Given the description of an element on the screen output the (x, y) to click on. 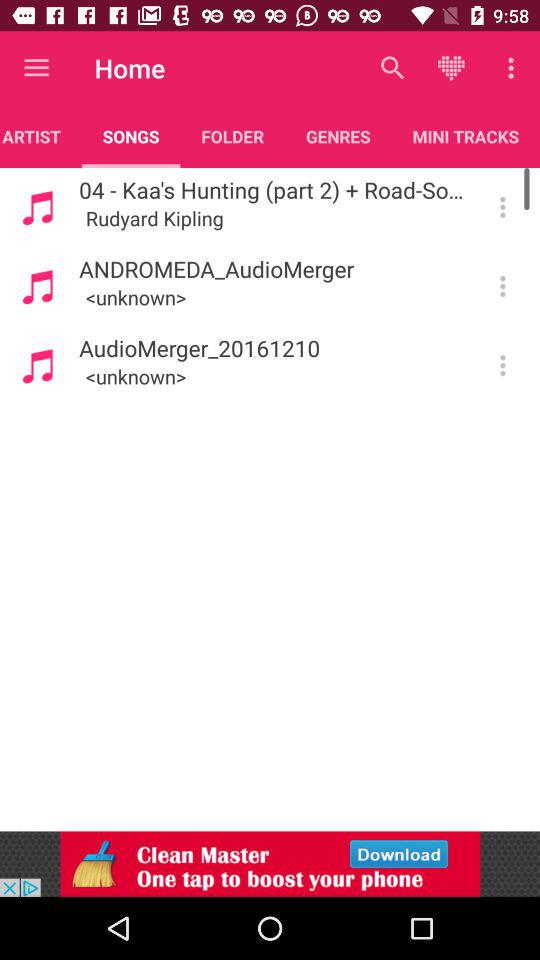
hit clean master (270, 864)
